Given the description of an element on the screen output the (x, y) to click on. 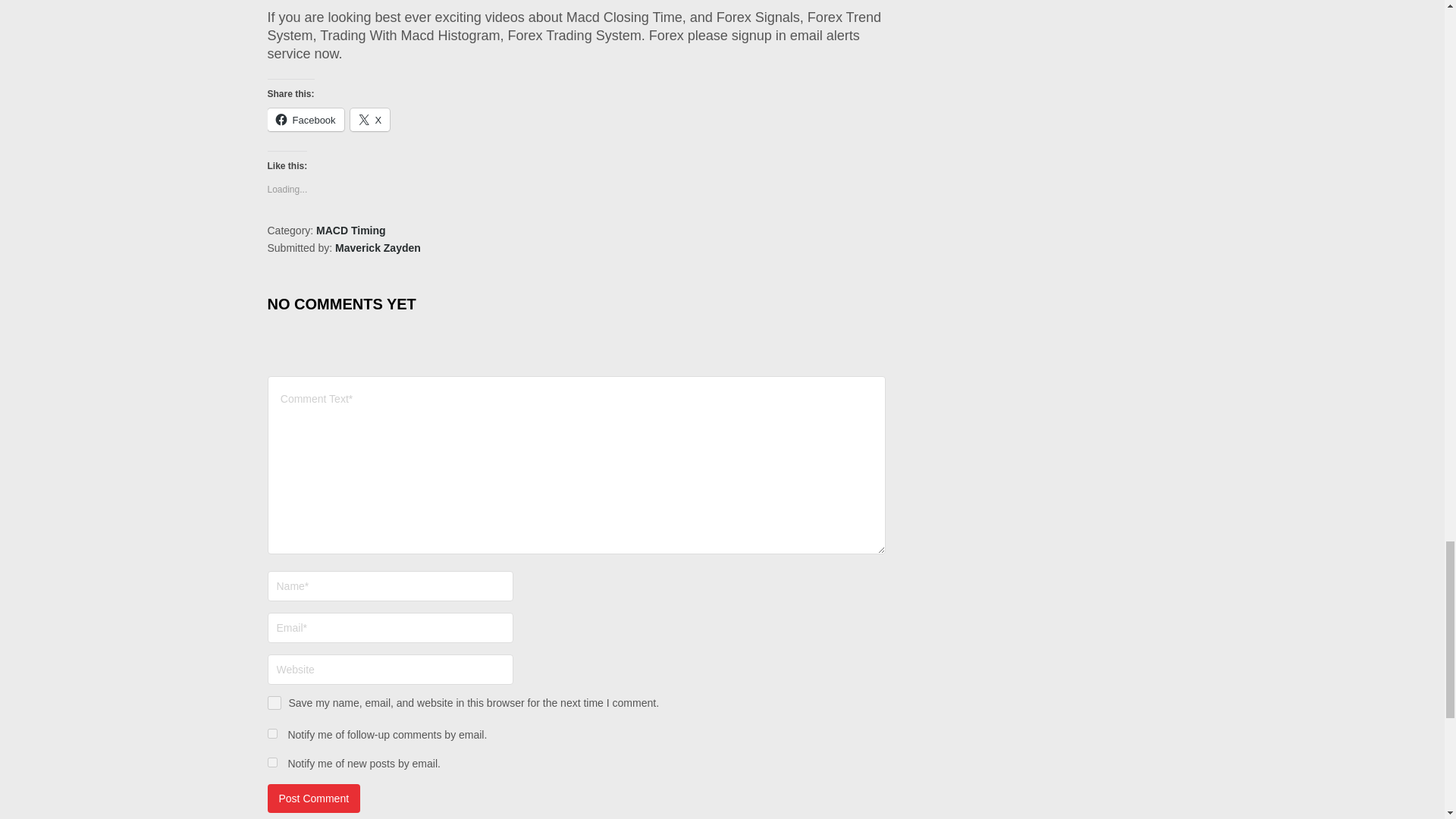
X (370, 119)
yes (273, 703)
Click to share on X (370, 119)
Maverick Zayden (377, 247)
Post Comment (312, 798)
Post Comment (312, 798)
Click to share on Facebook (304, 119)
Facebook (304, 119)
MACD Timing (350, 230)
NO COMMENTS YET (340, 299)
